Given the description of an element on the screen output the (x, y) to click on. 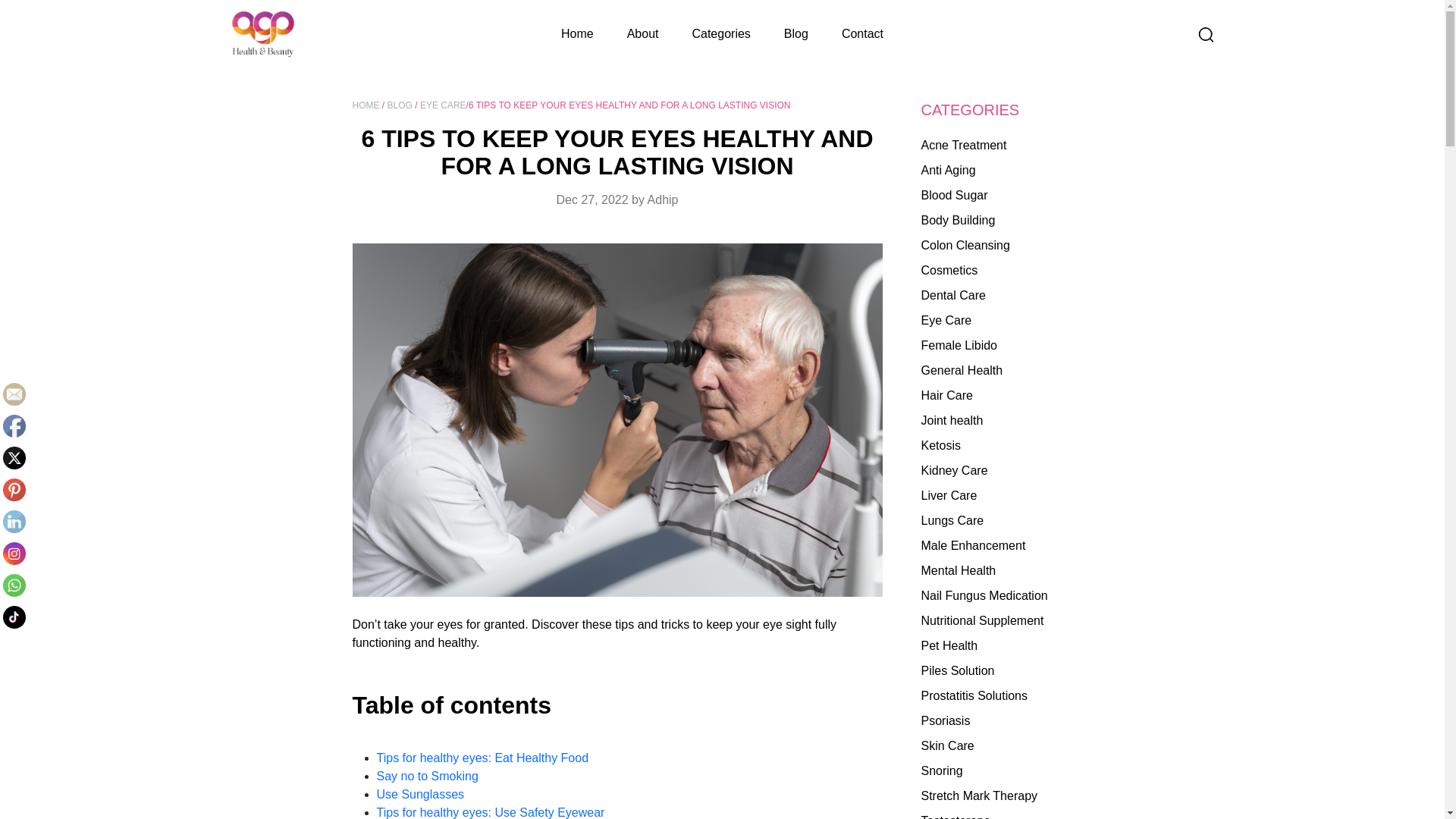
EYE CARE (442, 104)
BLOG (399, 104)
Body Building (1006, 220)
Home (577, 34)
Tips for healthy eyes: Eat Healthy Food  (483, 757)
Dental Care (1006, 295)
Twitter (14, 457)
Blog (796, 34)
Blood Sugar (1006, 195)
Tips for healthy eyes: Use Safety Eyewear (489, 812)
Say no to Smoking (426, 775)
Acne Treatment (1006, 145)
Colon Cleansing (1006, 245)
Anti Aging (1006, 170)
Use Sunglasses (419, 793)
